Given the description of an element on the screen output the (x, y) to click on. 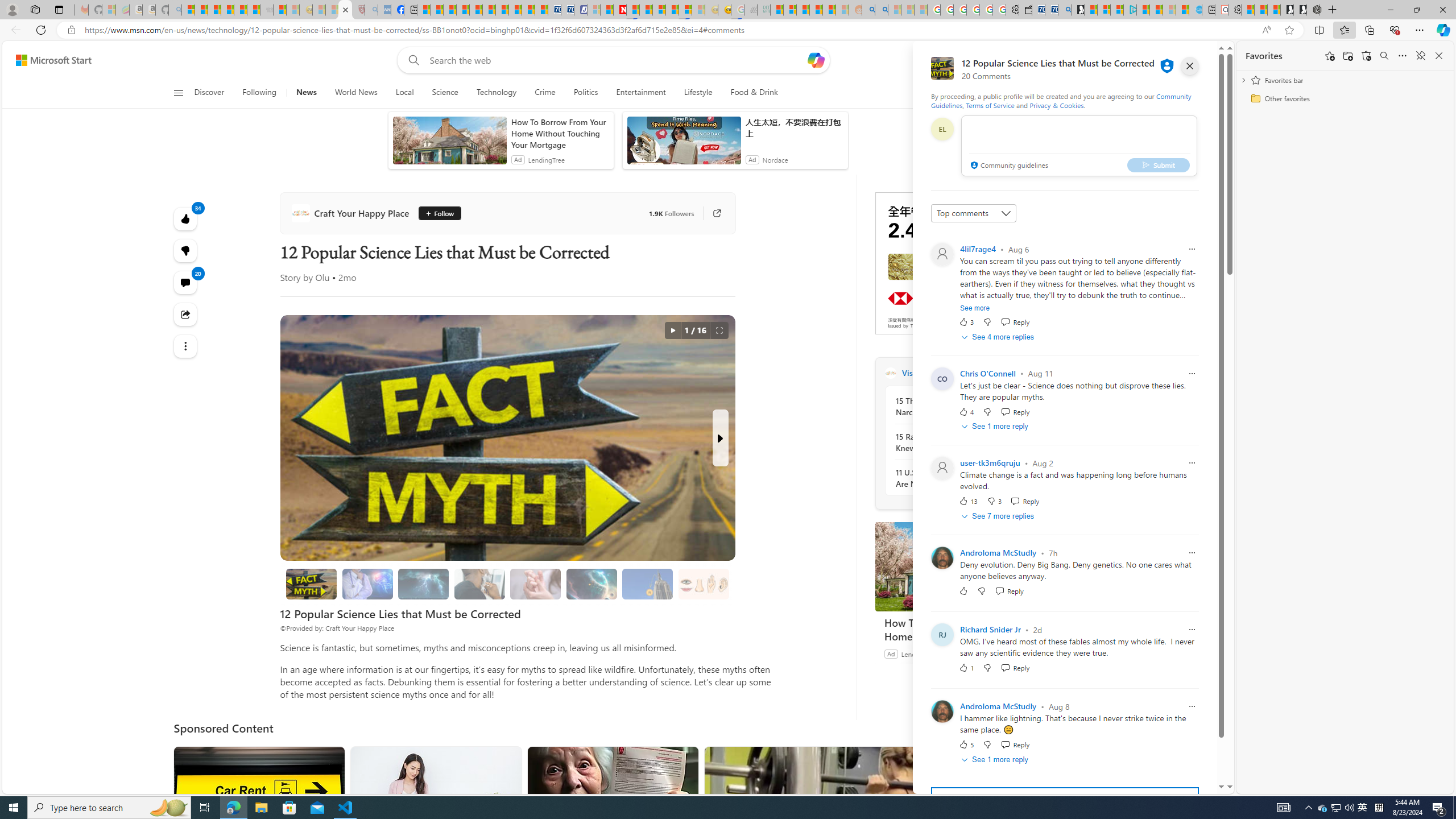
Climate Damage Becomes Too Severe To Reverse (462, 9)
Class: qc-adchoices-icon (1040, 196)
Class: progress (703, 581)
